Given the description of an element on the screen output the (x, y) to click on. 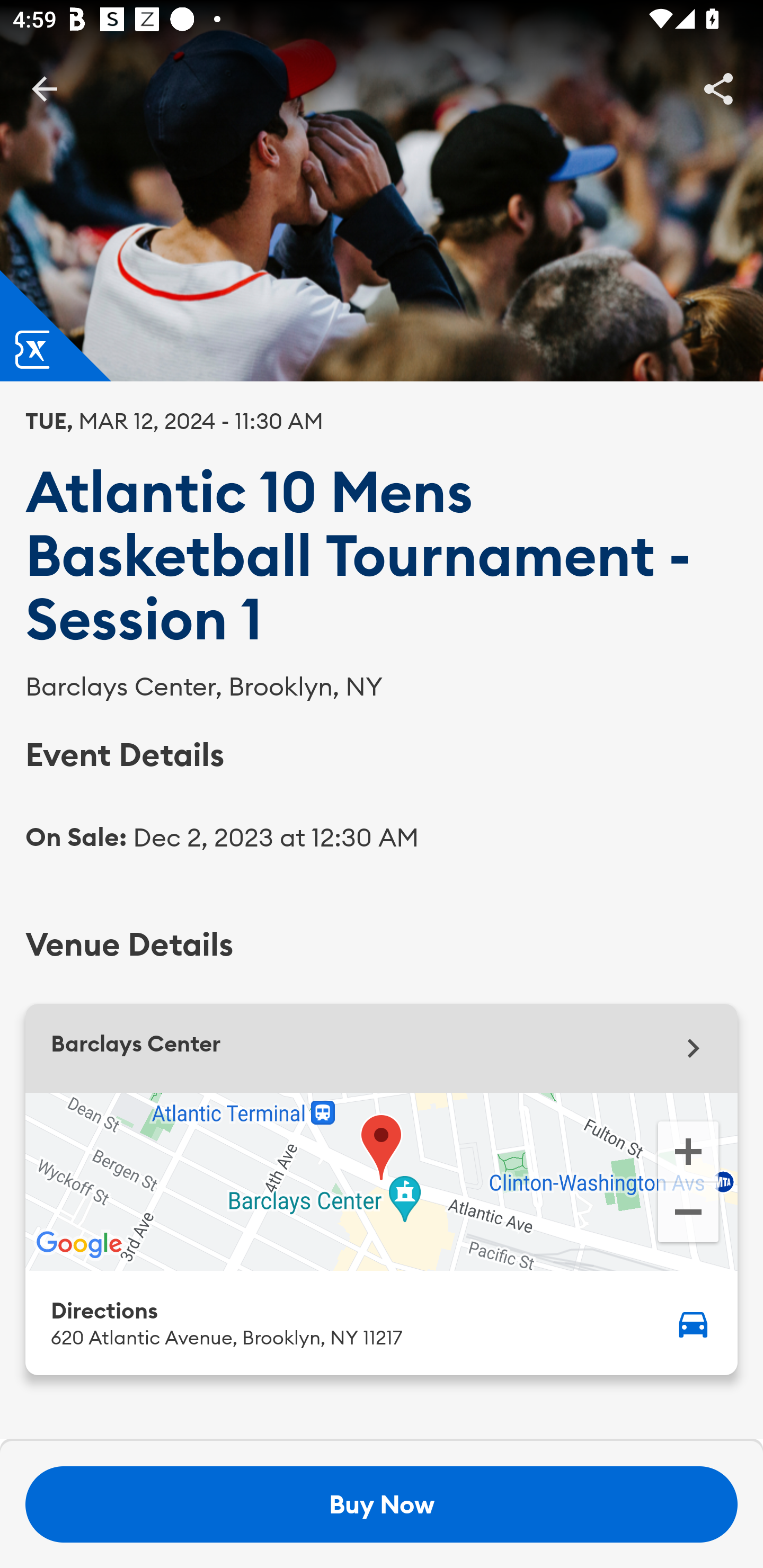
BackButton (44, 88)
Share (718, 88)
Barclays Center (381, 1047)
Google Map Barclays Center.  Zoom in Zoom out (381, 1181)
Zoom in (687, 1149)
Zoom out (687, 1214)
Directions 620 Atlantic Avenue, Brooklyn, NY 11217 (381, 1322)
Buy Now (381, 1504)
